Given the description of an element on the screen output the (x, y) to click on. 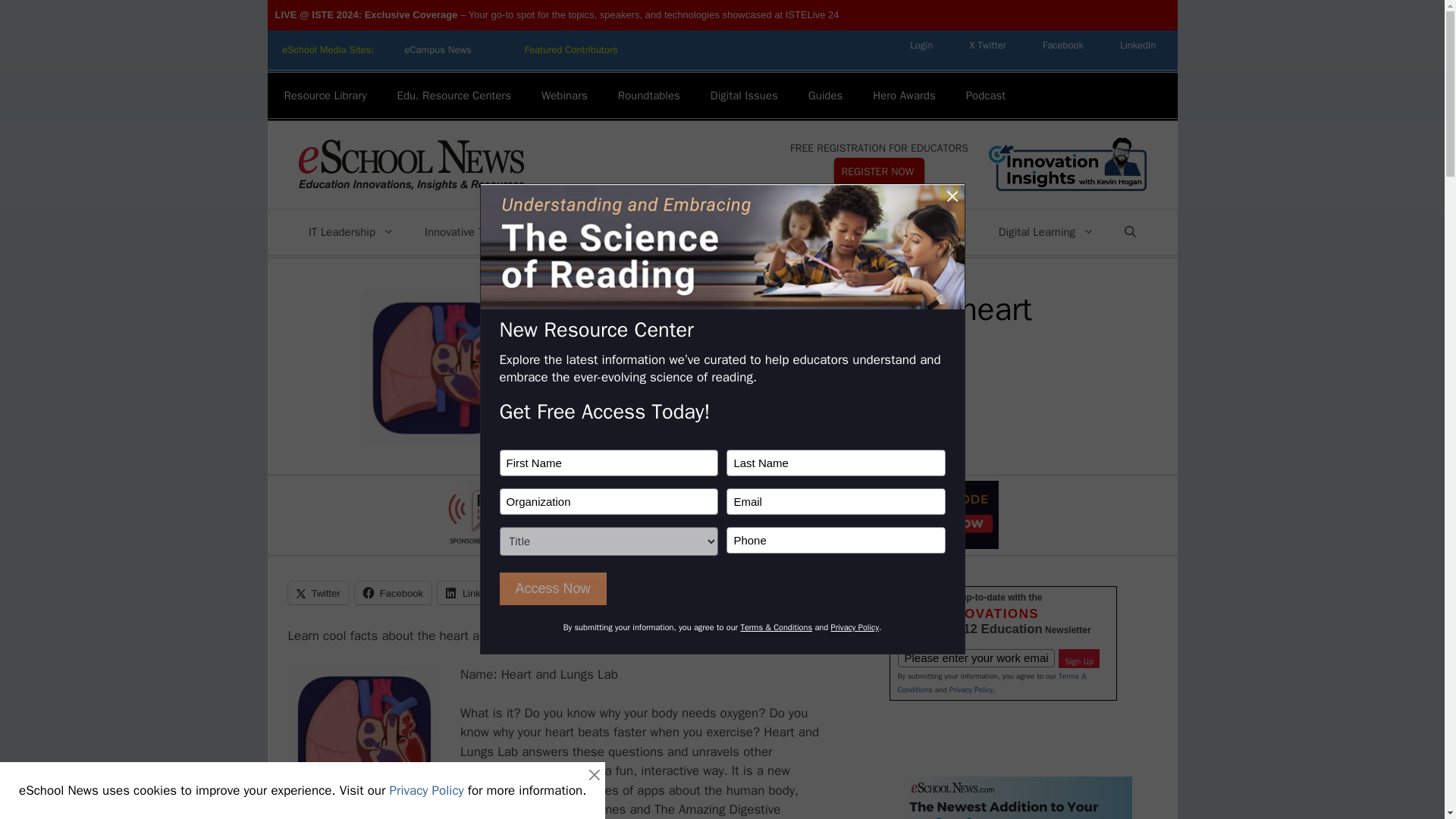
eSchool News (410, 164)
LinkedIn (1138, 45)
Facebook (1063, 45)
View all posts by Laura Ascione (574, 391)
Click to share on LinkedIn (473, 592)
Twitter (987, 45)
Guides (826, 94)
Login (921, 45)
Resource Library (324, 94)
Edu. Resource Centers (453, 94)
Featured Contributors (571, 50)
Digital Issues (744, 94)
eSchool News (410, 163)
Click to email a link to a friend (542, 592)
Podcast (985, 94)
